Given the description of an element on the screen output the (x, y) to click on. 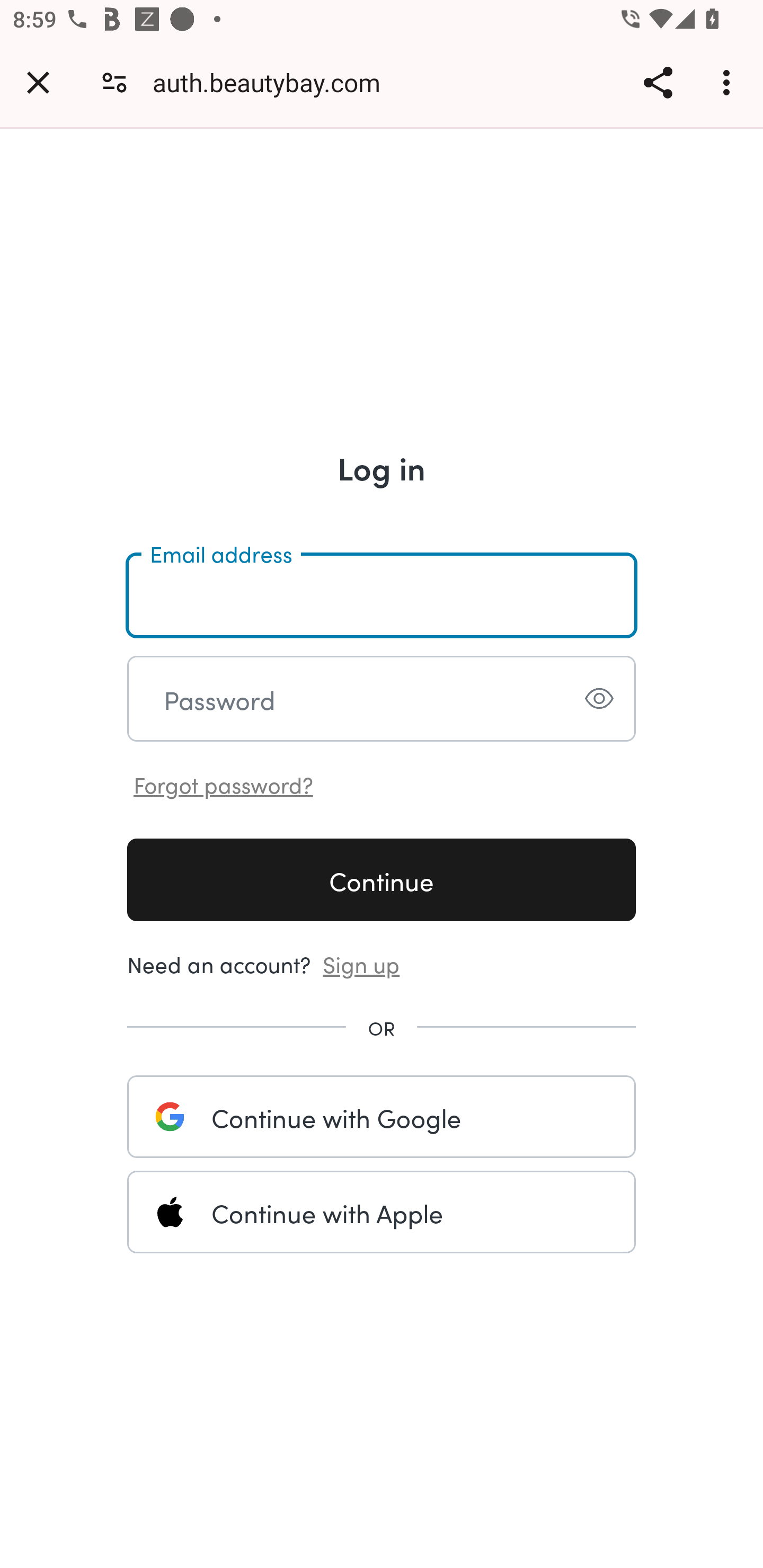
Close tab (38, 82)
Share (657, 82)
Customize and control Google Chrome (729, 82)
Connection is secure (114, 81)
auth.beautybay.com (272, 81)
Show password (599, 698)
Forgot password? (223, 782)
Continue (381, 879)
Sign up (361, 962)
Continue with Google (381, 1116)
Continue with Apple (381, 1211)
